Given the description of an element on the screen output the (x, y) to click on. 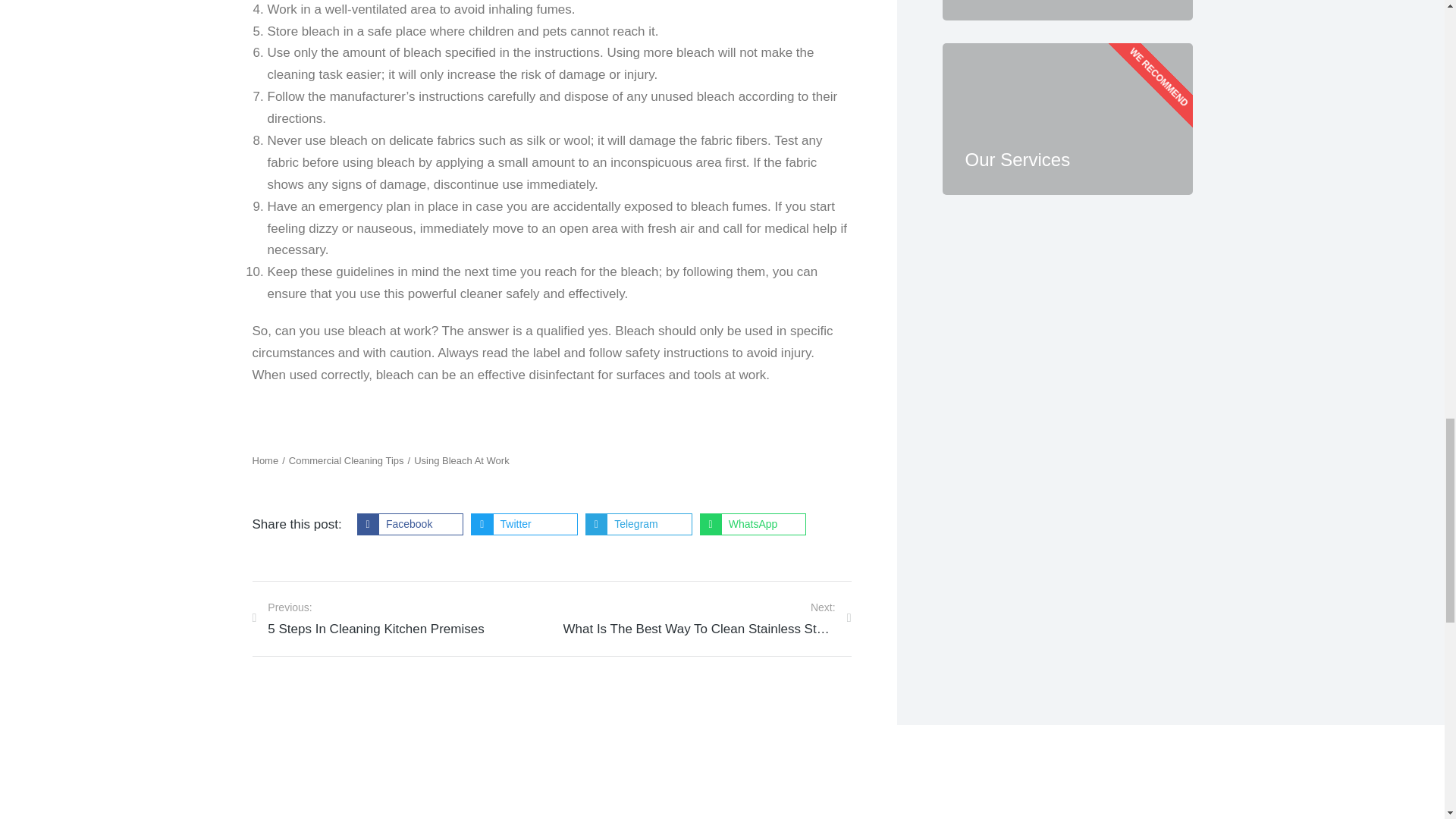
Home (264, 461)
Commercial Cleaning Tips (346, 461)
Home (264, 461)
